Given the description of an element on the screen output the (x, y) to click on. 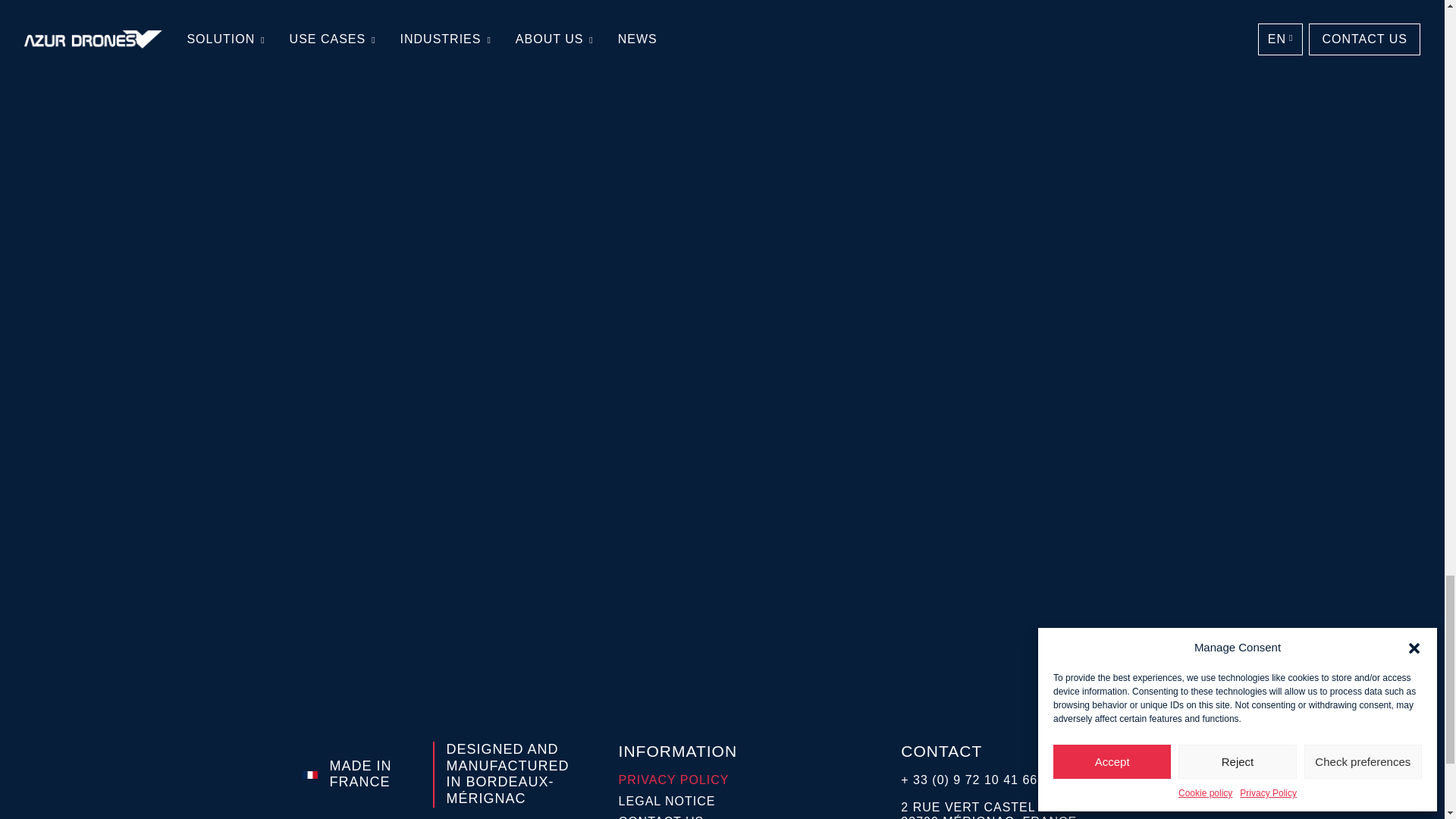
INFORMATION (677, 751)
CONTACT (1021, 751)
Contact us (677, 816)
LEGAL NOTICE (677, 803)
PRIVACY POLICY (677, 783)
Privacy Policy (677, 780)
Legal notice (677, 800)
CONTACT US (677, 816)
